Given the description of an element on the screen output the (x, y) to click on. 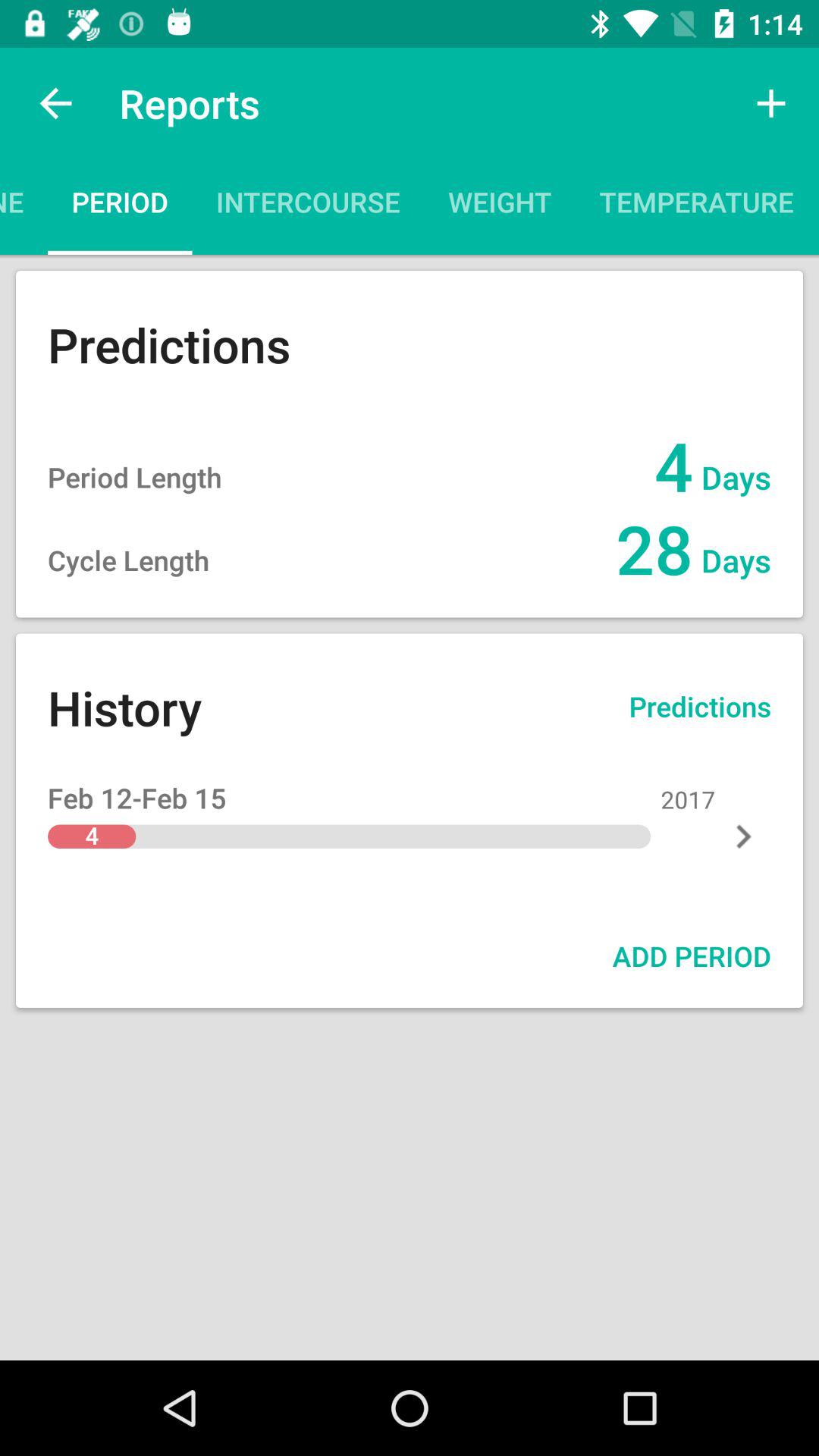
select icon next to symptoms (771, 103)
